Given the description of an element on the screen output the (x, y) to click on. 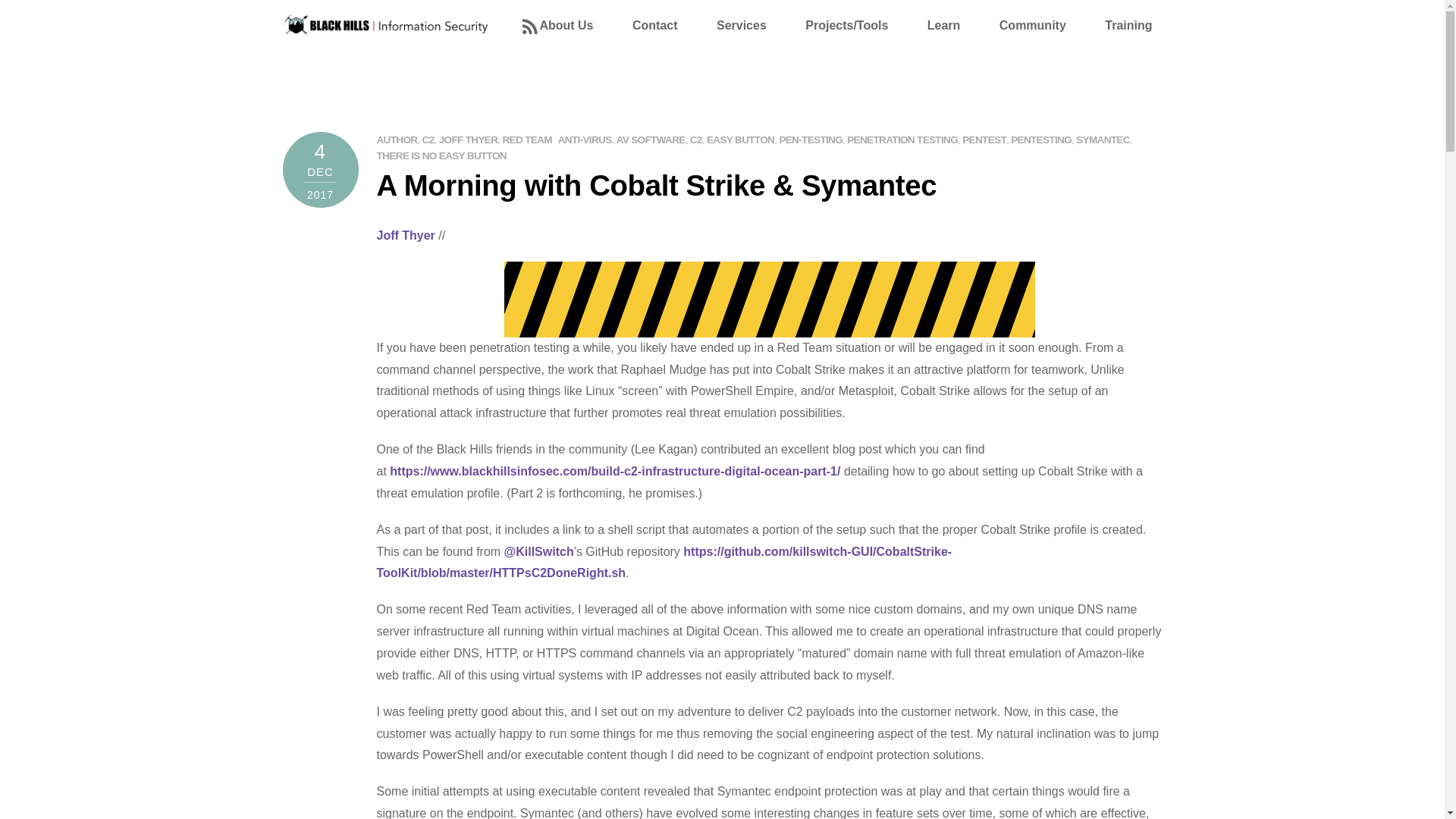
Black Hills Information Security (386, 26)
Community (1040, 31)
Learn (952, 31)
Services (749, 31)
Contact (662, 31)
About Us (573, 31)
